Given the description of an element on the screen output the (x, y) to click on. 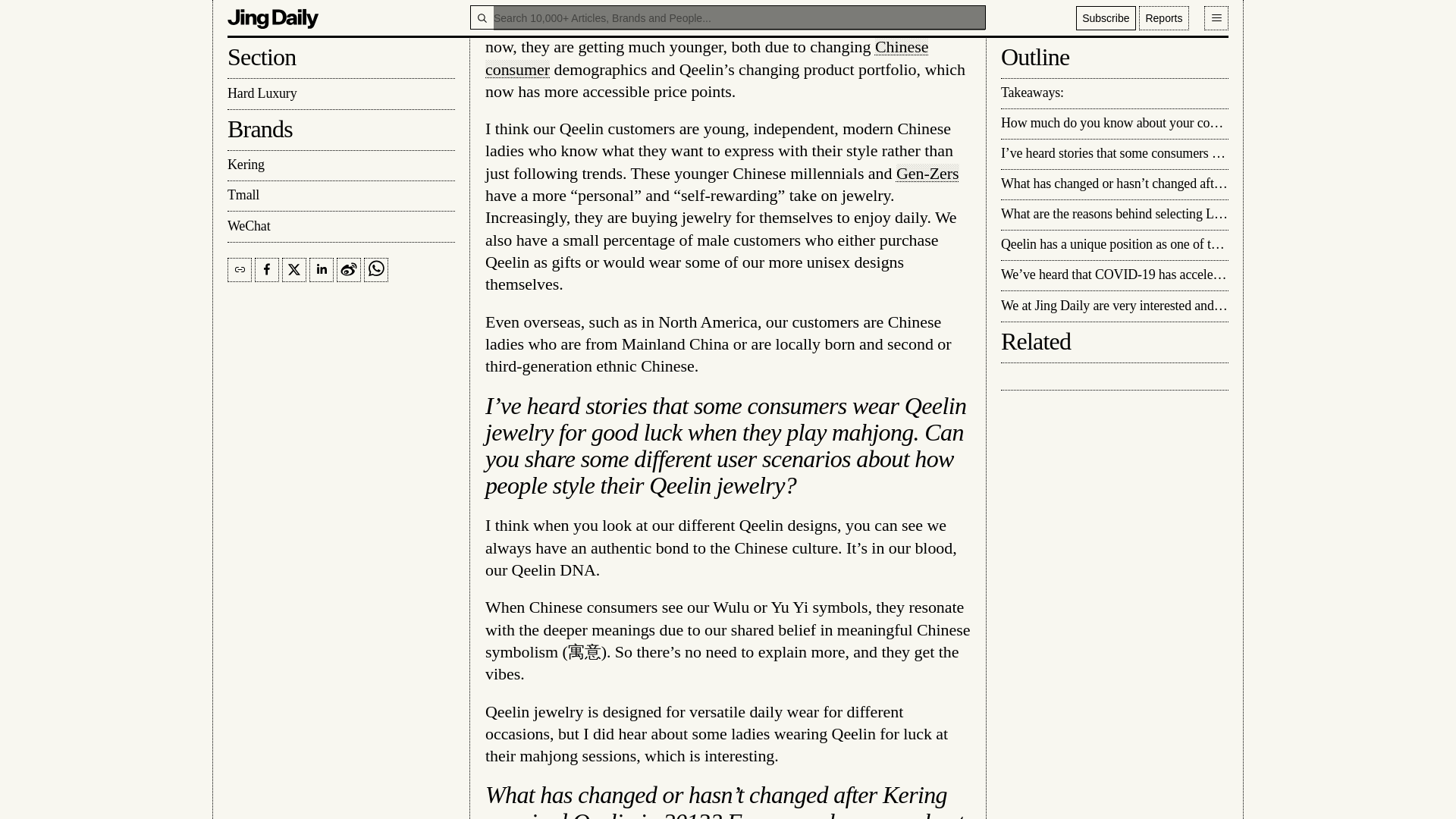
Gen-Zers (927, 172)
Chinese consumer (706, 56)
